Given the description of an element on the screen output the (x, y) to click on. 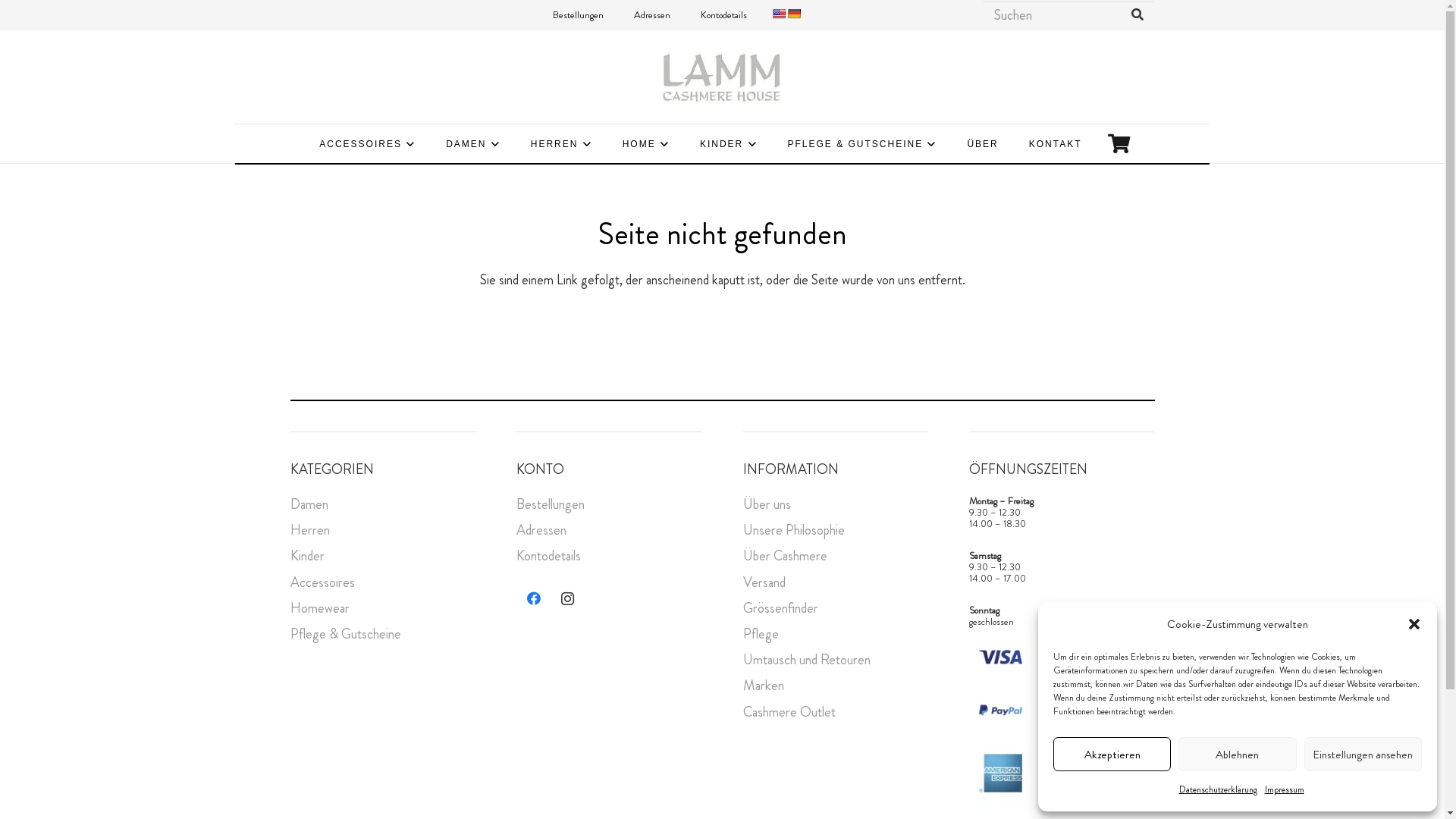
KONTAKT Element type: text (1055, 143)
DAMEN Element type: text (472, 143)
Homewear Element type: text (318, 608)
Damen Element type: text (308, 504)
Adressen Element type: text (541, 529)
HOME Element type: text (645, 143)
KINDER Element type: text (728, 143)
0 Element type: text (1118, 143)
Herren Element type: text (309, 529)
Unsere Philosophie Element type: text (793, 529)
Versand Element type: text (764, 582)
Accessoires Element type: text (321, 582)
Facebook Element type: hover (533, 598)
Ablehnen Element type: text (1236, 754)
ACCESSOIRES Element type: text (367, 143)
Cashmere Outlet Element type: text (789, 711)
HERREN Element type: text (561, 143)
Pflege & Gutscheine Element type: text (344, 633)
Einstellungen ansehen Element type: text (1362, 754)
German Element type: hover (793, 13)
Umtausch und Retouren Element type: text (806, 659)
Adressen Element type: text (651, 15)
Bestellungen Element type: text (550, 504)
Instagram Element type: hover (567, 598)
Marken Element type: text (763, 685)
Kontodetails Element type: text (723, 15)
Pflege Element type: text (760, 633)
Impressum Element type: text (1284, 789)
Kontodetails Element type: text (548, 555)
Bestellungen Element type: text (577, 15)
PFLEGE & GUTSCHEINE Element type: text (861, 143)
Akzeptieren Element type: text (1111, 754)
Kinder Element type: text (306, 555)
English Element type: hover (778, 13)
